Given the description of an element on the screen output the (x, y) to click on. 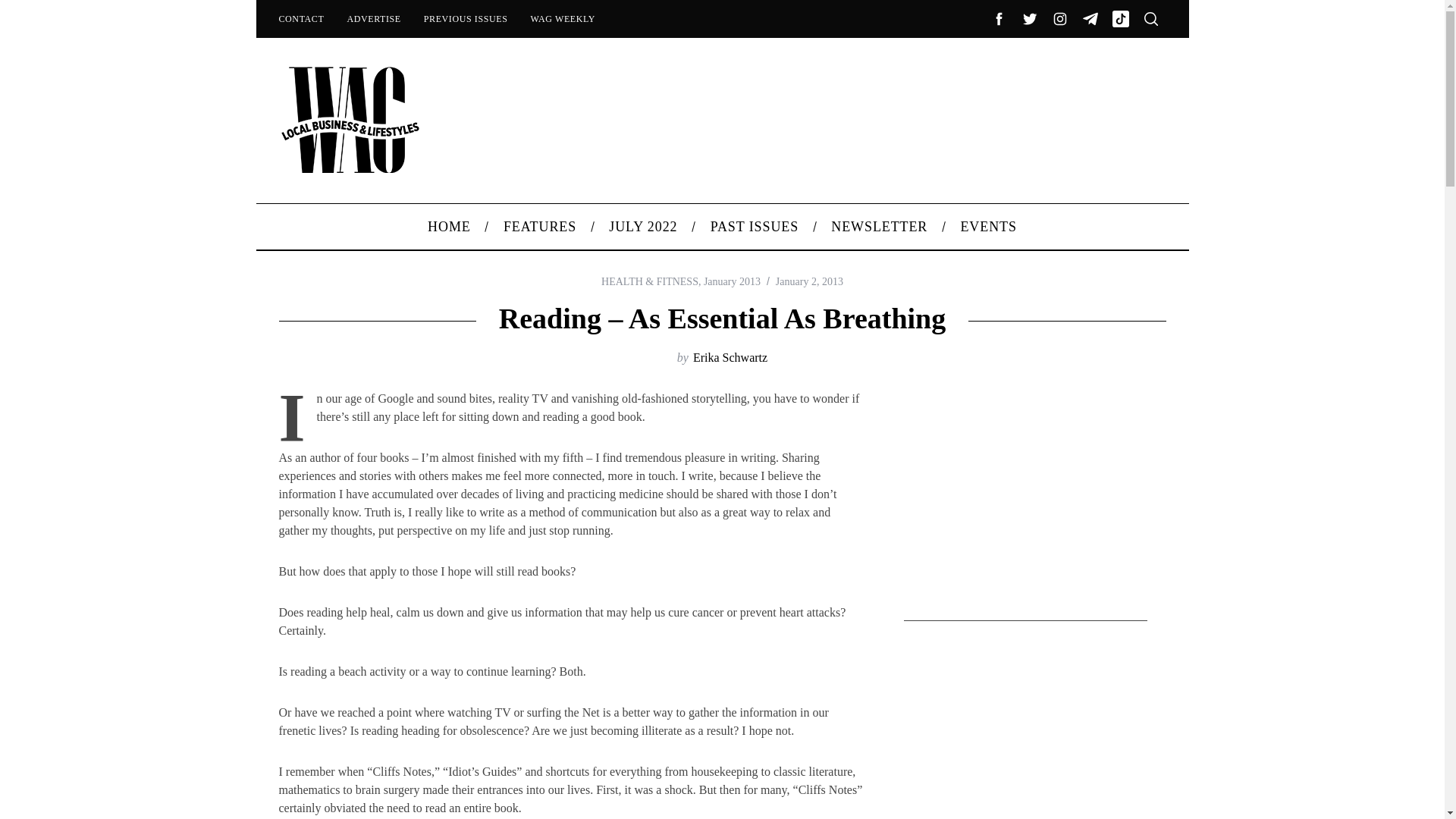
JULY 2022 (643, 226)
HOME (449, 226)
ADVERTISE (373, 18)
WAG WEEKLY (562, 18)
PAST ISSUES (754, 226)
CONTACT (300, 18)
FEATURES (539, 226)
PREVIOUS ISSUES (465, 18)
